Given the description of an element on the screen output the (x, y) to click on. 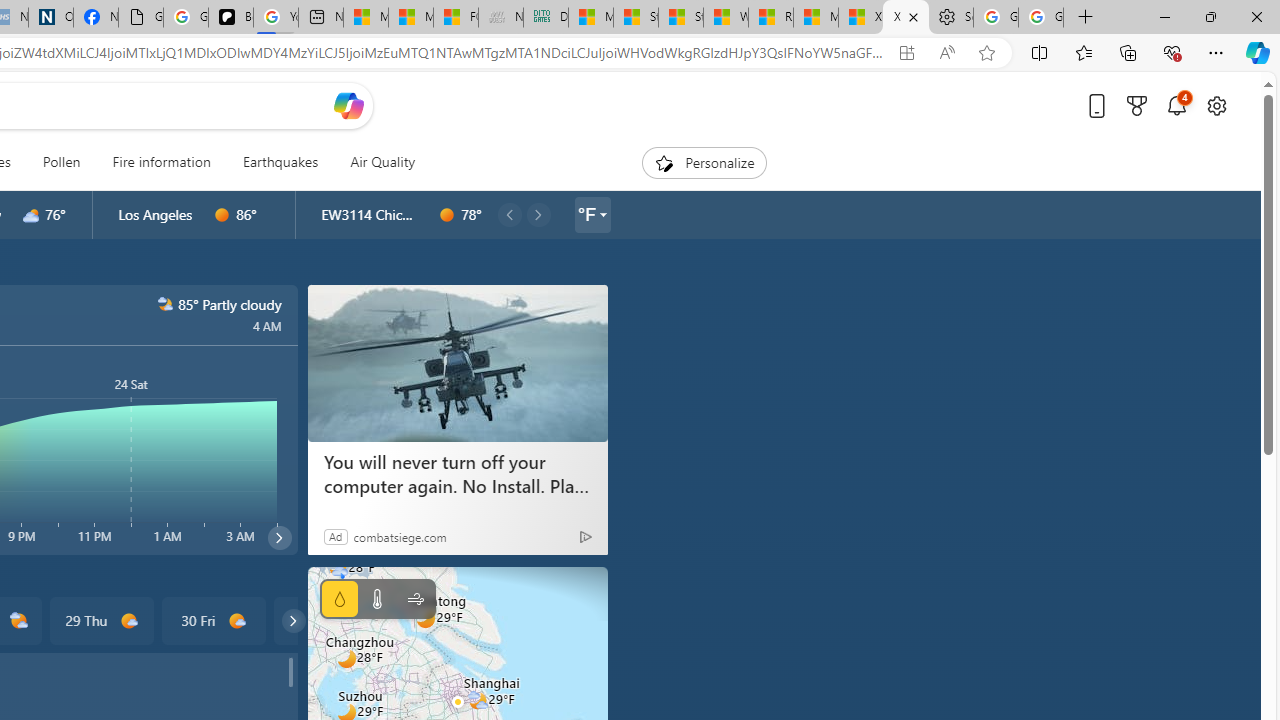
Pollen (61, 162)
locationBar/triangle (602, 214)
n2000 (164, 303)
Air Quality (375, 162)
Google Analytics Opt-out Browser Add-on Download Page (140, 17)
Precipitation (339, 599)
common/carouselChevron (293, 620)
